Given the description of an element on the screen output the (x, y) to click on. 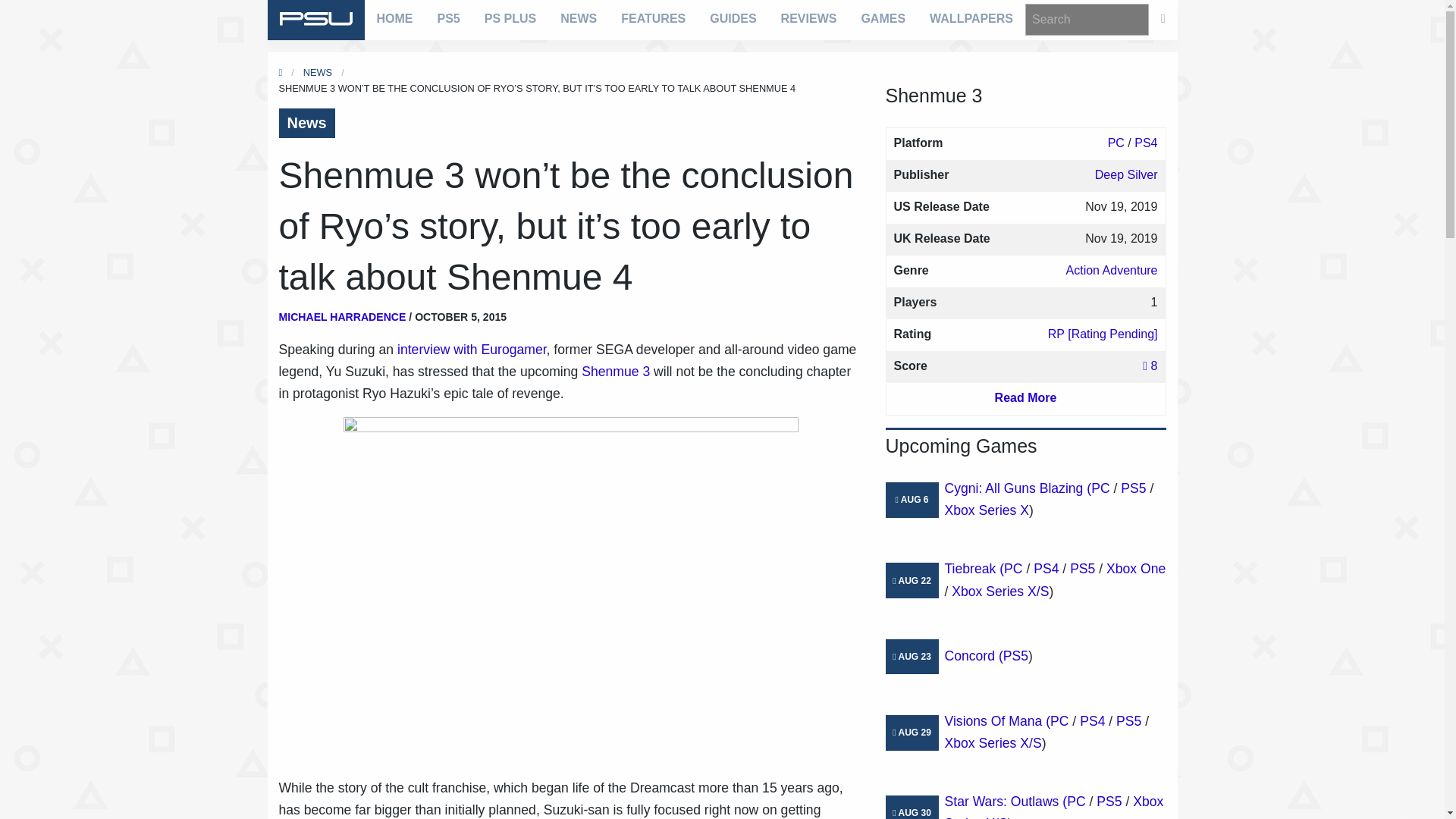
PS5 (448, 18)
NEWS (578, 18)
MICHAEL HARRADENCE (342, 316)
GAMES (882, 18)
NEWS (316, 71)
REVIEWS (808, 18)
News (306, 123)
GUIDES (732, 18)
Shenmue 3 (614, 371)
WALLPAPERS (971, 18)
interview with Eurogamer (472, 349)
FEATURES (652, 18)
PS PLUS (509, 18)
HOME (394, 18)
